Given the description of an element on the screen output the (x, y) to click on. 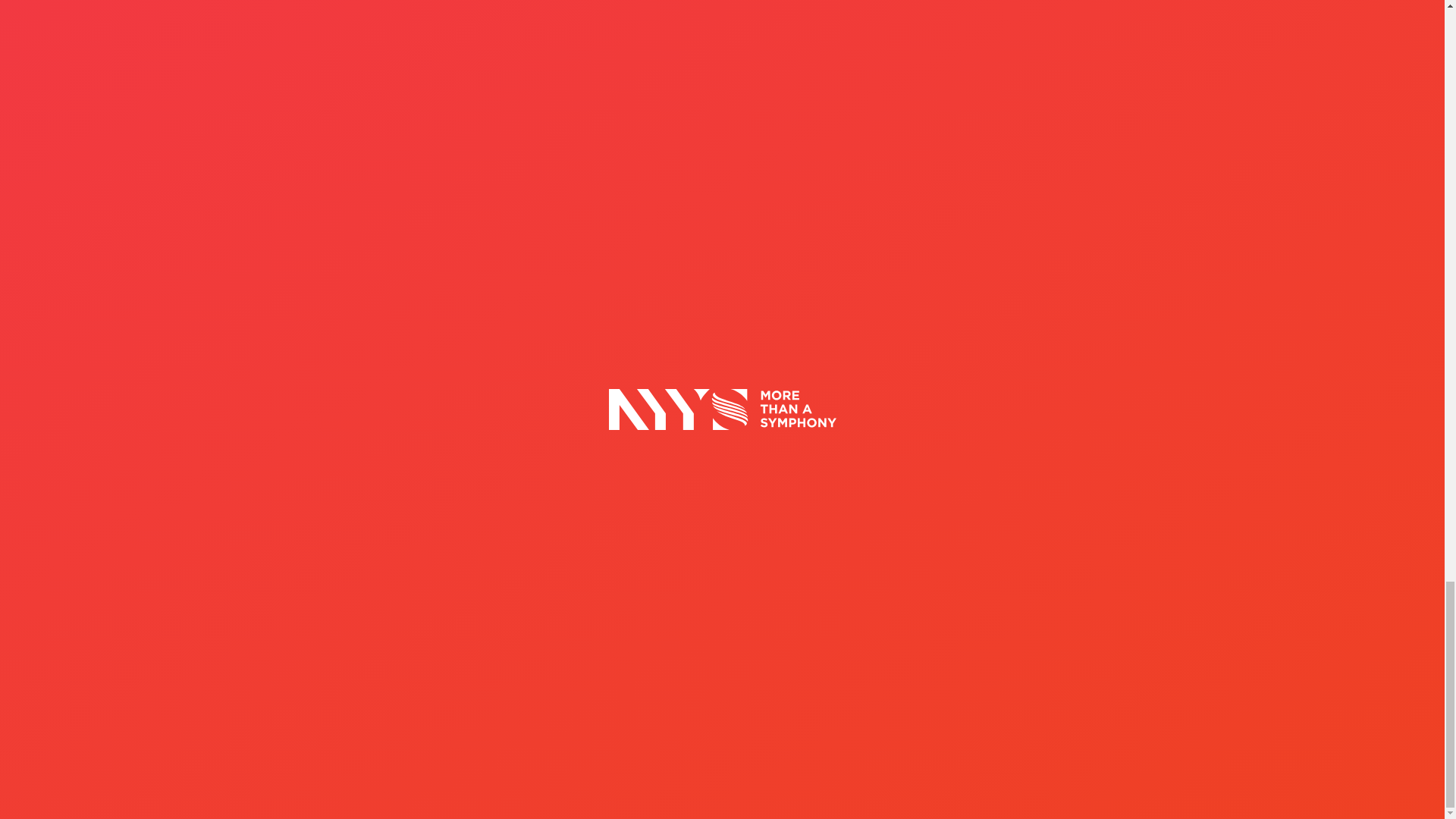
Spanish (1073, 677)
Portuguese (1158, 677)
Italian (1137, 677)
German (1243, 677)
Arabic (1264, 677)
Korean (1201, 677)
Dutch (1115, 677)
Russian (1222, 677)
English (1052, 677)
French (1094, 677)
